Given the description of an element on the screen output the (x, y) to click on. 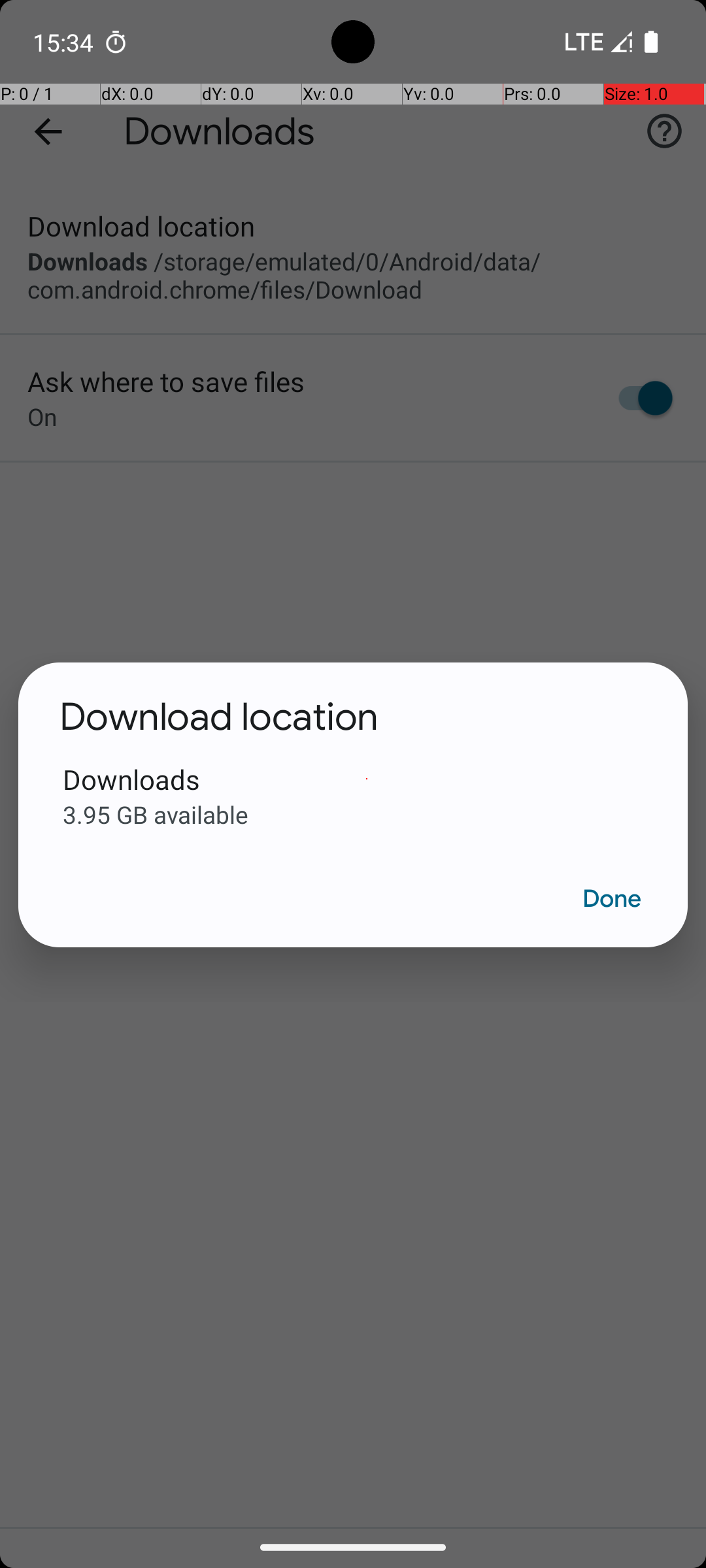
Download location Element type: android.widget.TextView (352, 716)
3.95 GB available Element type: android.widget.TextView (366, 814)
